Given the description of an element on the screen output the (x, y) to click on. 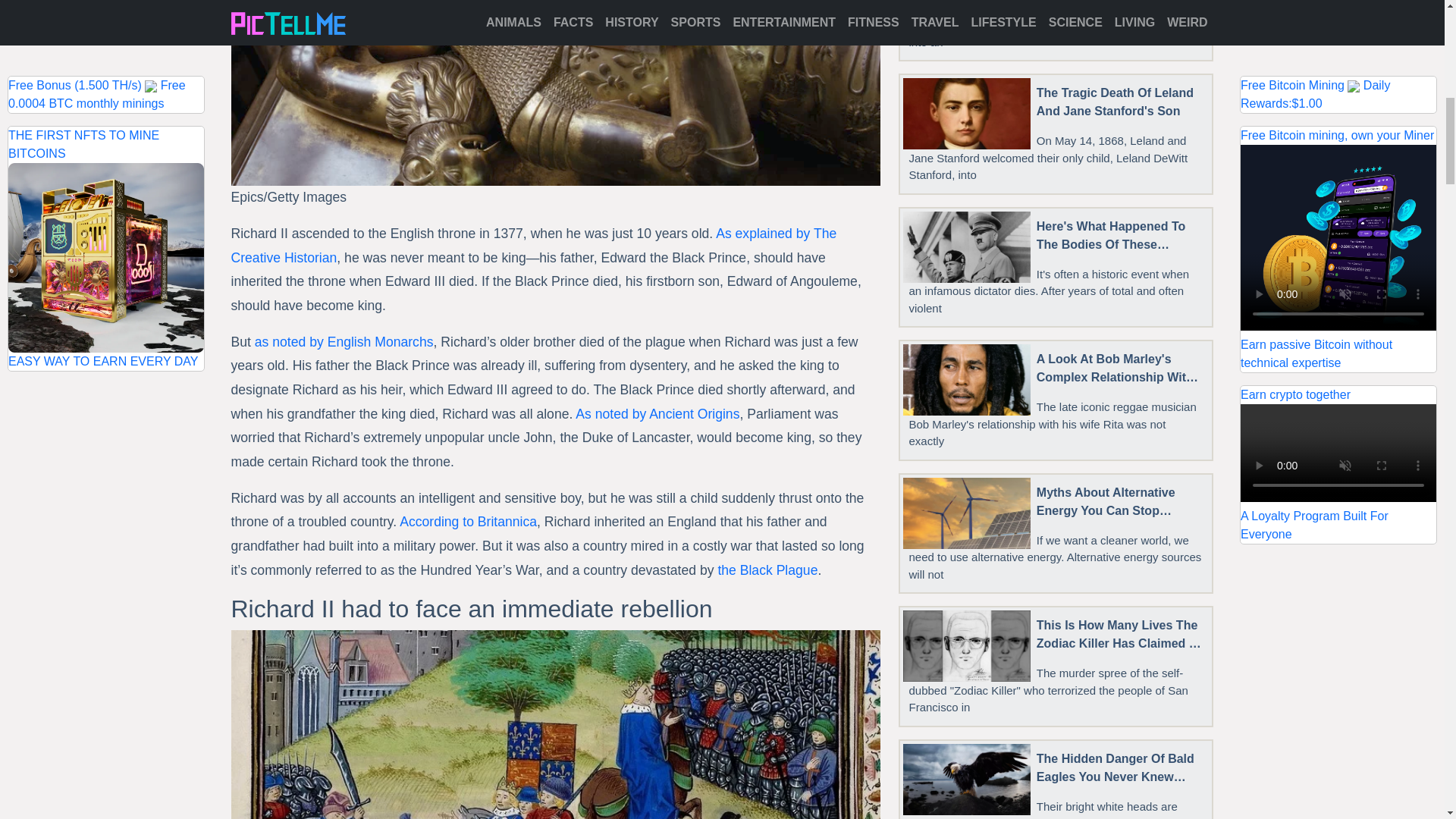
As explained by The Creative Historian (532, 245)
As noted by Ancient Origins (657, 413)
According to Britannica (467, 521)
the Black Plague (766, 570)
as noted by English Monarchs (343, 341)
